Given the description of an element on the screen output the (x, y) to click on. 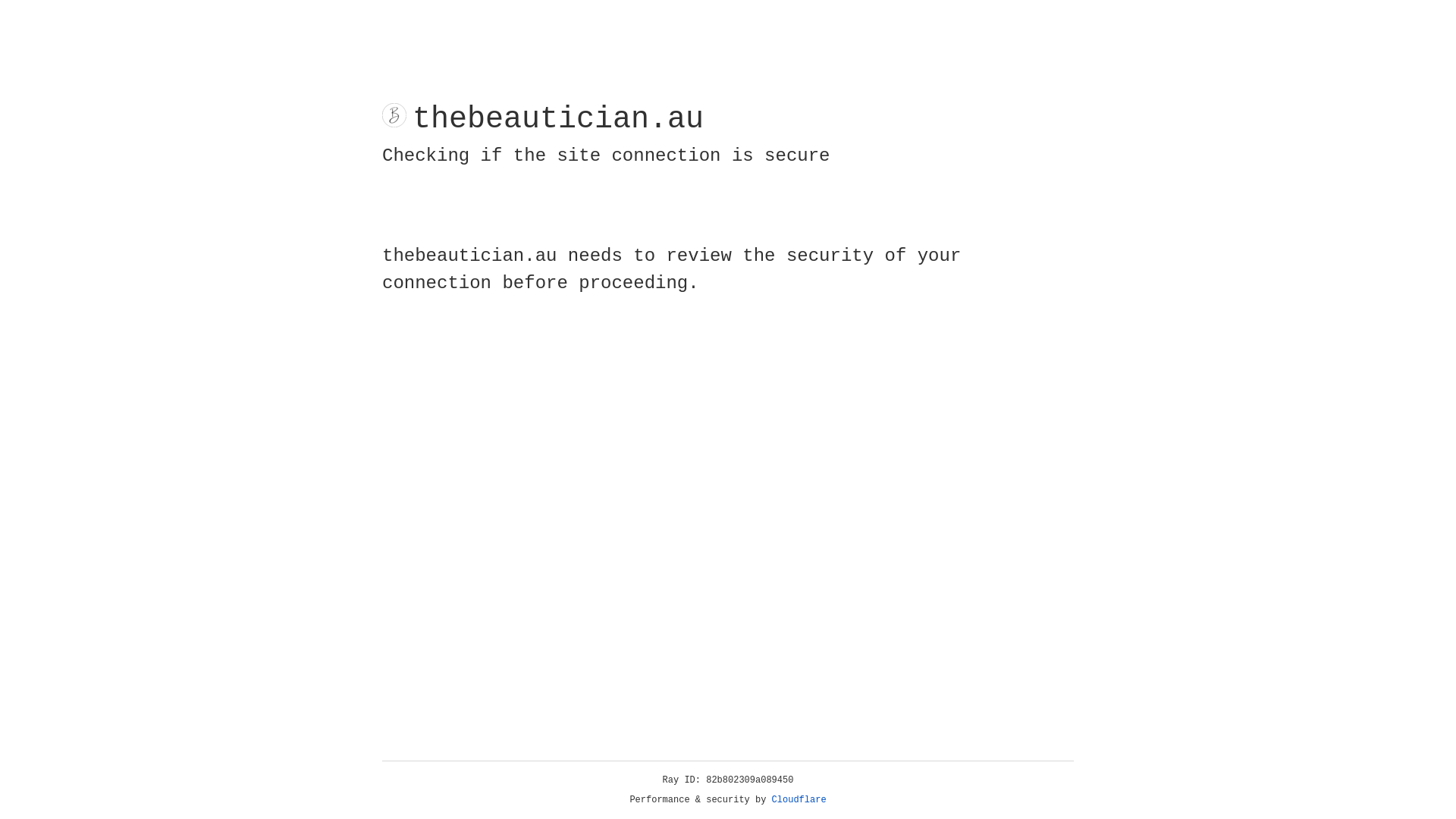
Cloudflare Element type: text (798, 799)
